Given the description of an element on the screen output the (x, y) to click on. 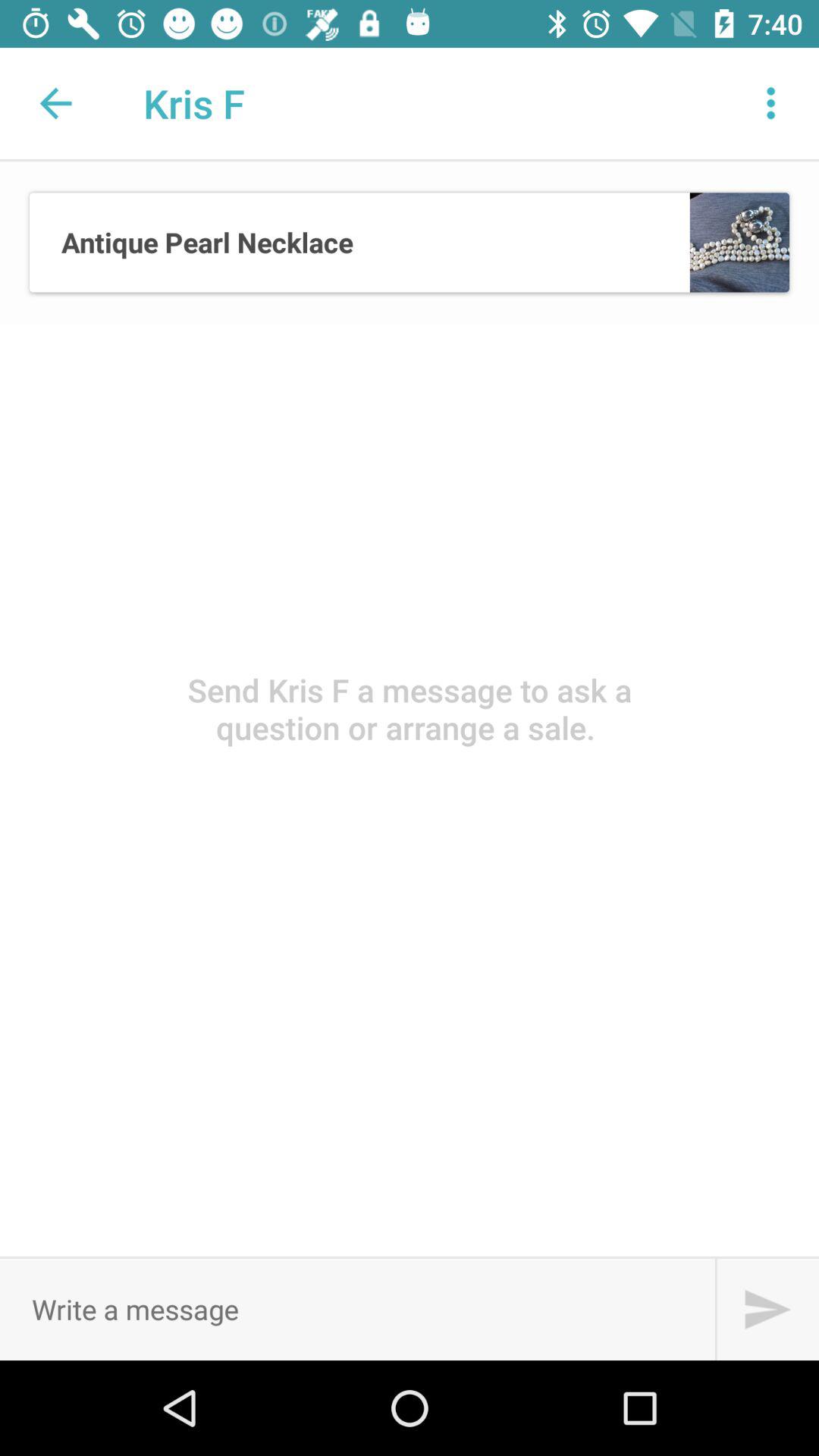
search box (768, 1309)
